Given the description of an element on the screen output the (x, y) to click on. 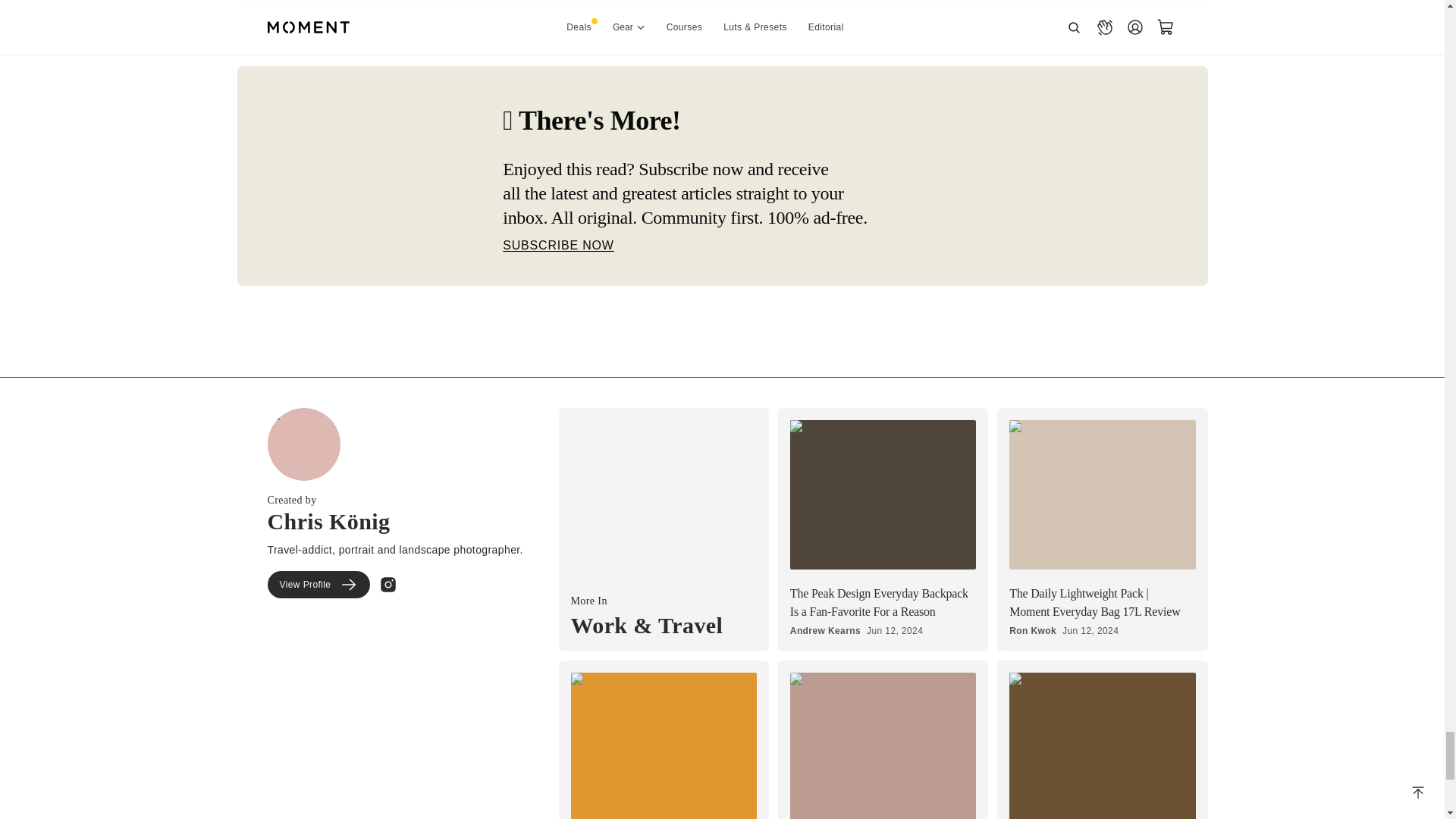
Go to thechriskonig (387, 584)
